Given the description of an element on the screen output the (x, y) to click on. 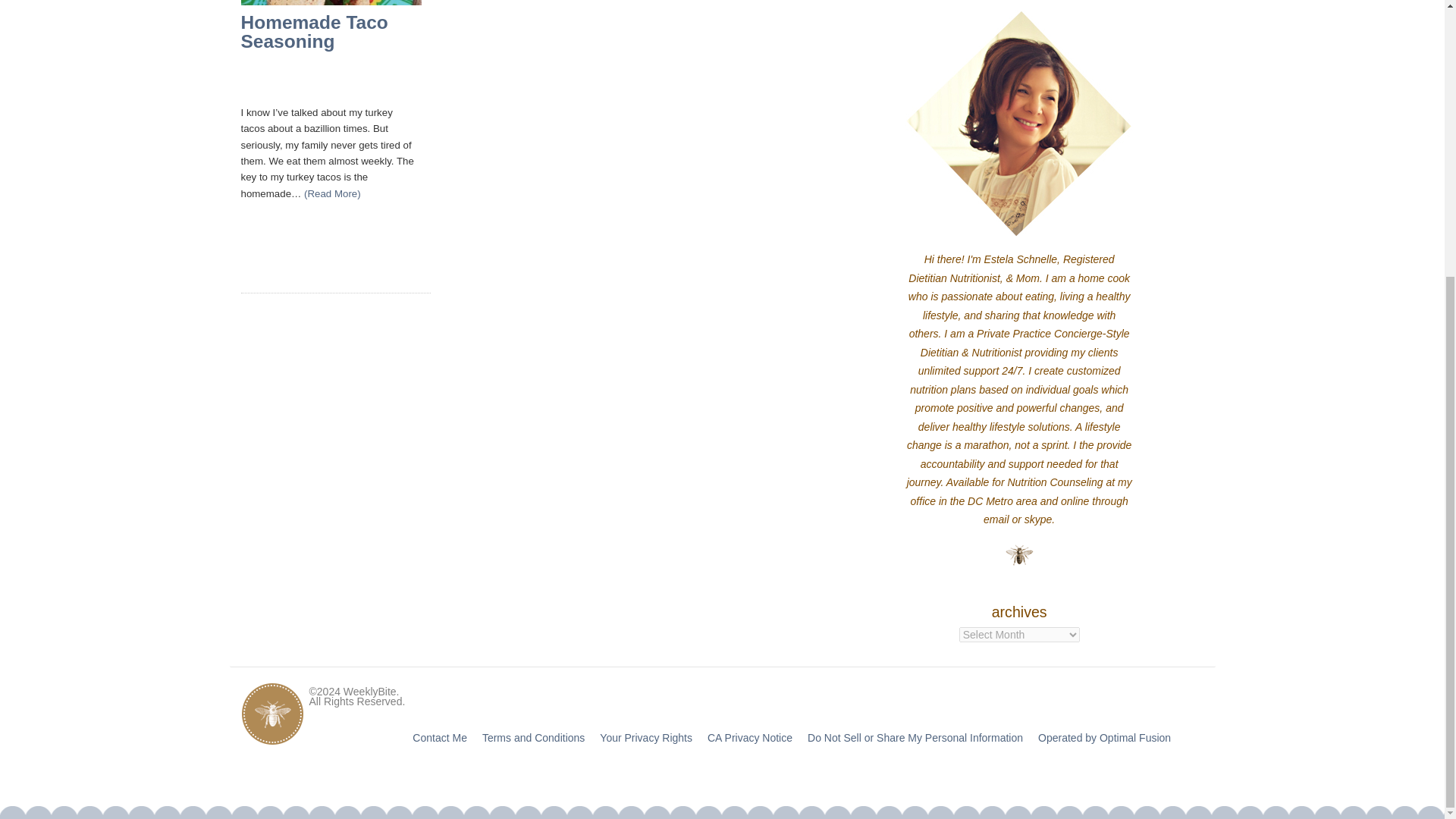
Contact Me (439, 737)
Homemade Taco Seasoning (314, 31)
Operated by Optimal Fusion (1104, 737)
CA Privacy Notice (749, 737)
Homemade Taco Seasoning (314, 31)
Terms and Conditions (533, 737)
Do Not Sell or Share My Personal Information (915, 737)
Your Privacy Rights (646, 737)
Do Not Sell or Share My Personal Information (915, 737)
